Given the description of an element on the screen output the (x, y) to click on. 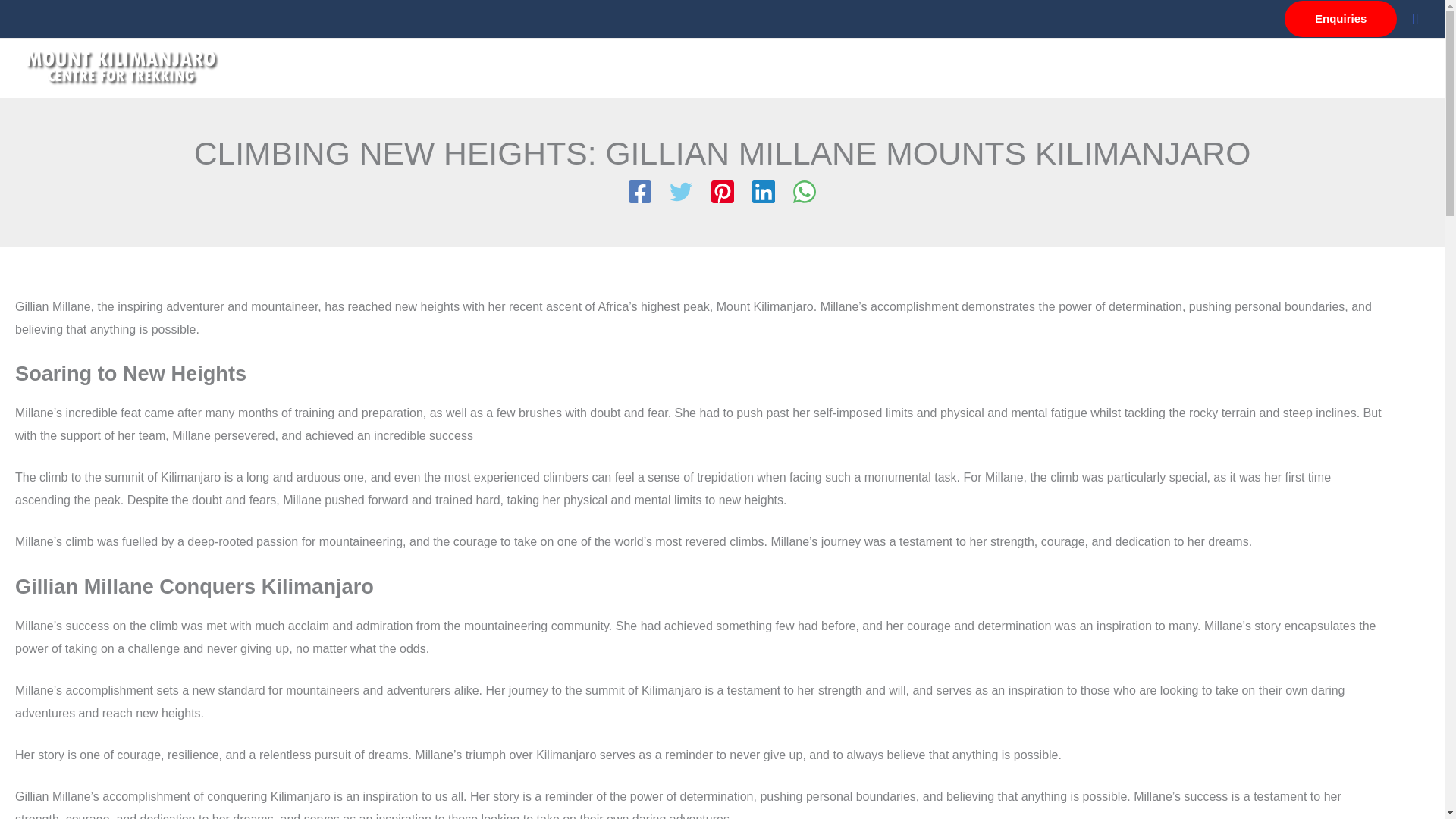
About (903, 68)
Enquiries (1340, 18)
Home (841, 68)
Information (984, 68)
